Given the description of an element on the screen output the (x, y) to click on. 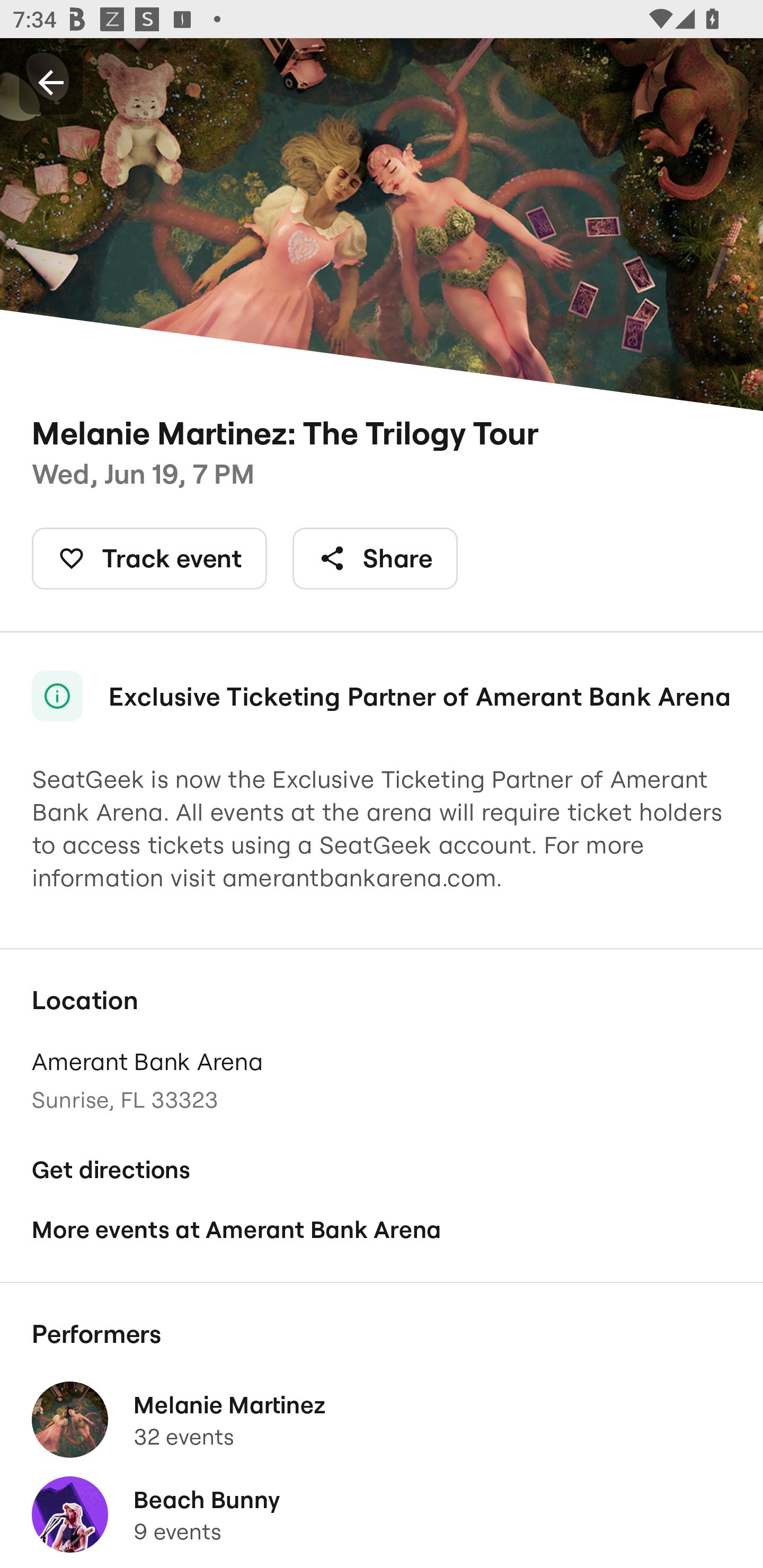
Back (50, 81)
Track event (149, 557)
Share (374, 557)
Get directions (381, 1169)
More events at Amerant Bank Arena (381, 1229)
Melanie Martinez 32 events (381, 1419)
Beach Bunny 9 events (381, 1514)
